Given the description of an element on the screen output the (x, y) to click on. 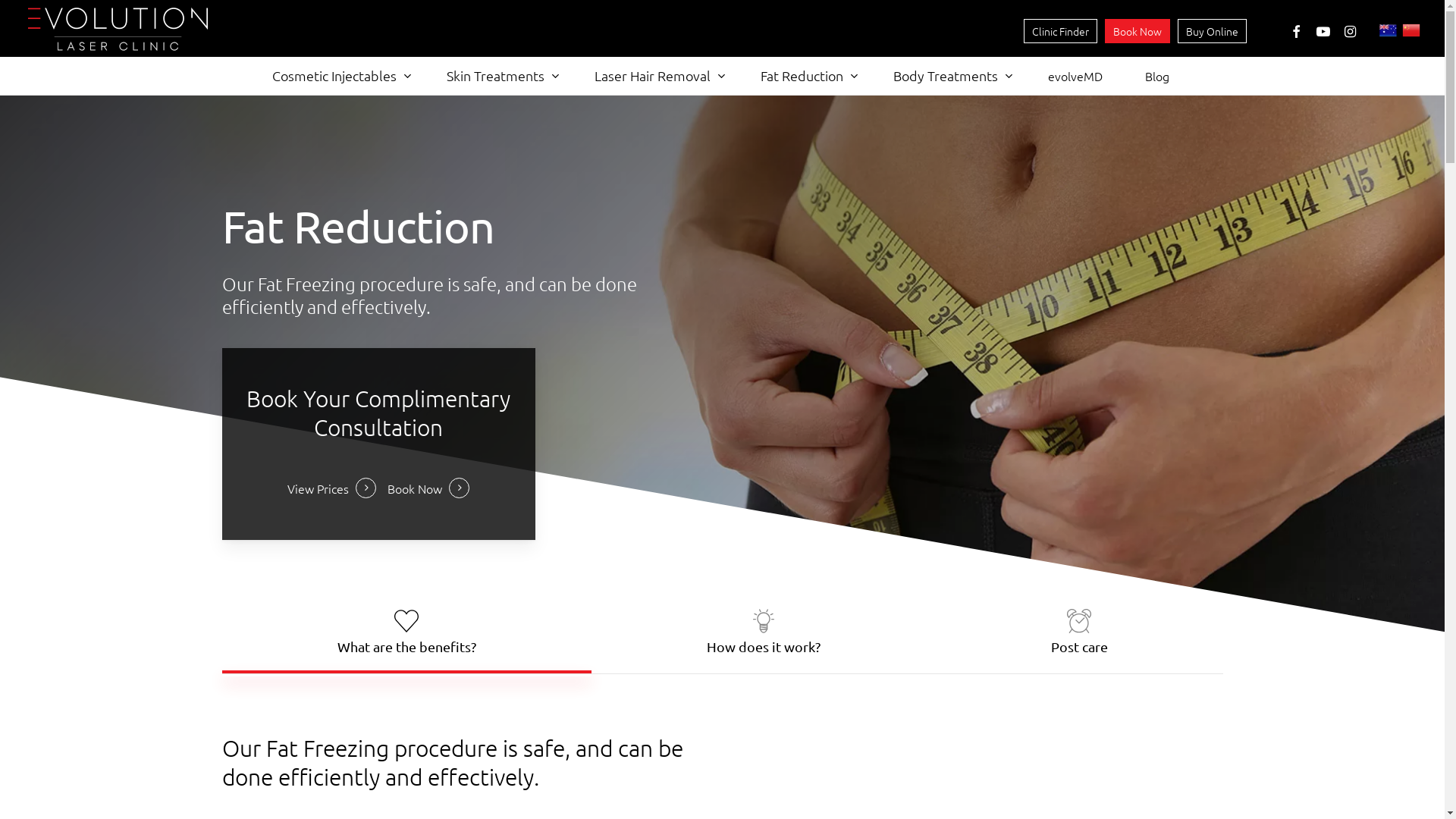
facebook Element type: text (1295, 30)
Laser Hair Removal Element type: text (656, 75)
Skin Treatments Element type: text (499, 75)
instagram Element type: text (1350, 30)
Customer reviews powered by Trustpilot Element type: hover (721, 29)
Body Treatments Element type: text (949, 75)
Buy Online Element type: text (1211, 30)
Cosmetic Injectables Element type: text (338, 75)
Post care Element type: text (1079, 631)
youtube Element type: text (1322, 30)
Chinese (Simplified) Element type: hover (1411, 31)
evolveMD Element type: text (1075, 75)
Fat Reduction Element type: text (805, 75)
Clinic Finder Element type: text (1060, 30)
Book Now Element type: text (1137, 30)
Book Now Element type: text (428, 488)
English Element type: hover (1388, 31)
How does it work? Element type: text (763, 631)
View Prices Element type: text (331, 488)
What are the benefits? Element type: text (405, 631)
Blog Element type: text (1157, 75)
